Given the description of an element on the screen output the (x, y) to click on. 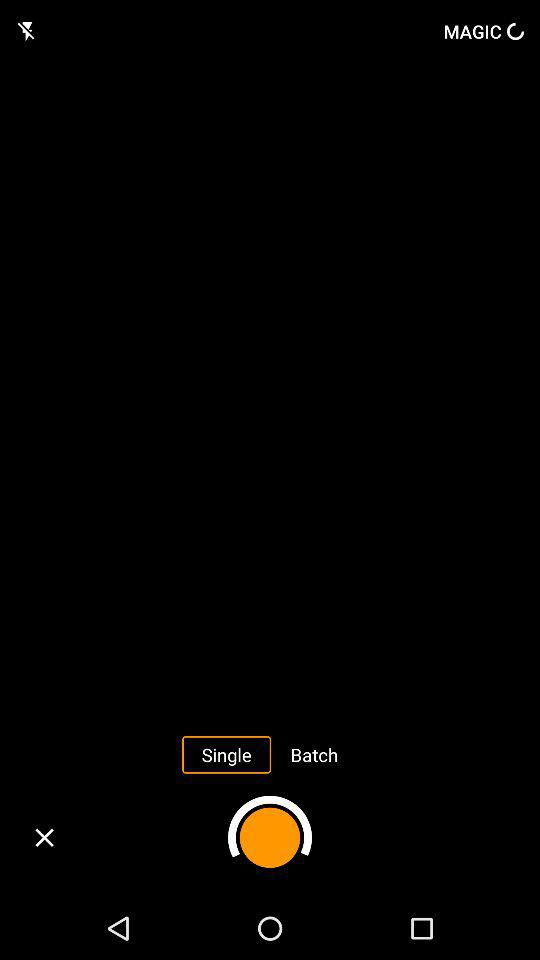
open batch (314, 754)
